Given the description of an element on the screen output the (x, y) to click on. 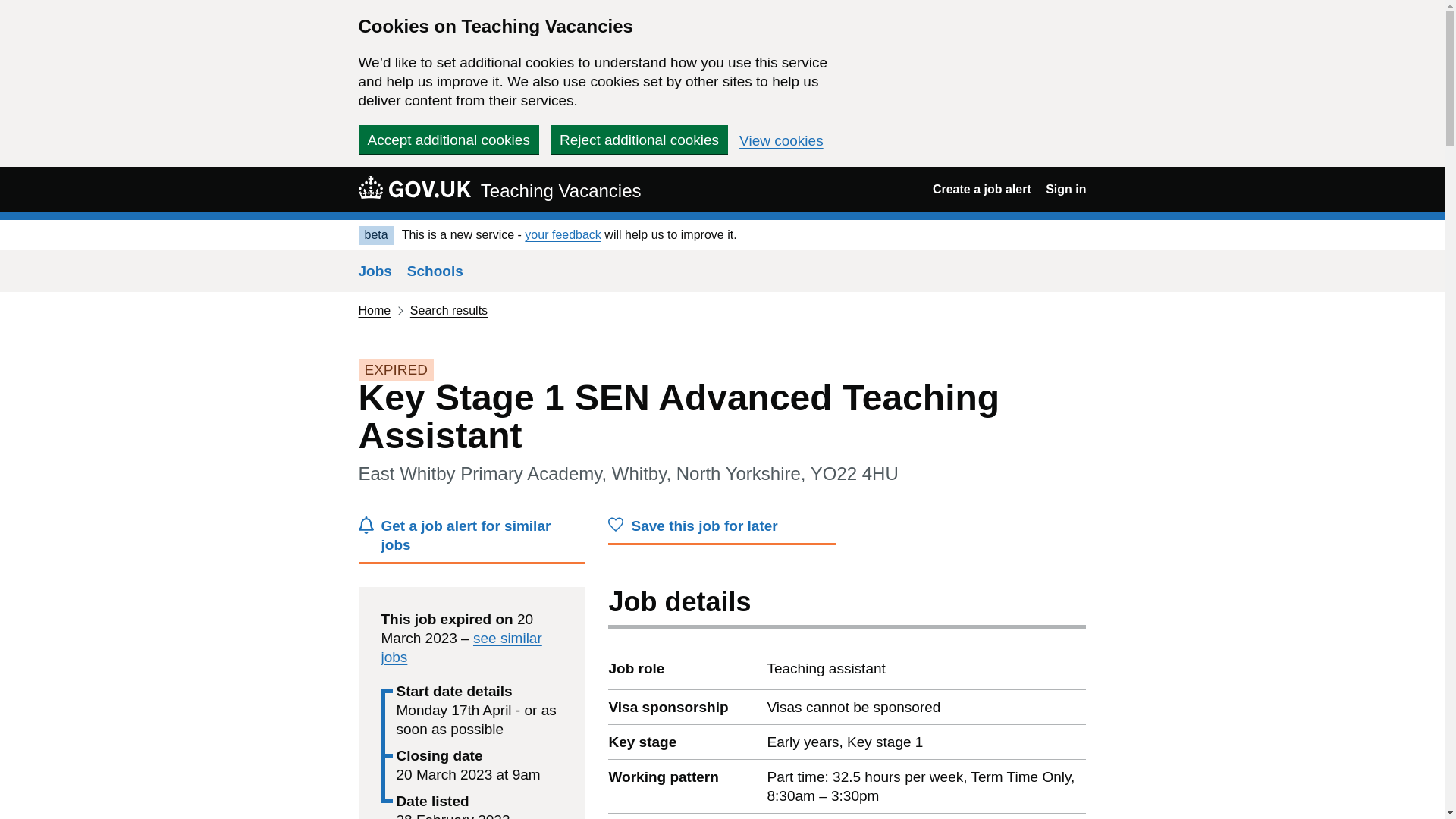
Accept additional cookies (448, 139)
View cookies (781, 140)
Save this job for later (721, 530)
Schools (435, 270)
Search results (448, 309)
your feedback (562, 234)
Get a job alert for similar jobs (471, 539)
Reject additional cookies (639, 139)
Home (374, 309)
Sign in (1065, 188)
GOV.UK Teaching Vacancies (499, 188)
see similar jobs (460, 647)
Create a job alert (981, 188)
GOV.UK (414, 187)
